Given the description of an element on the screen output the (x, y) to click on. 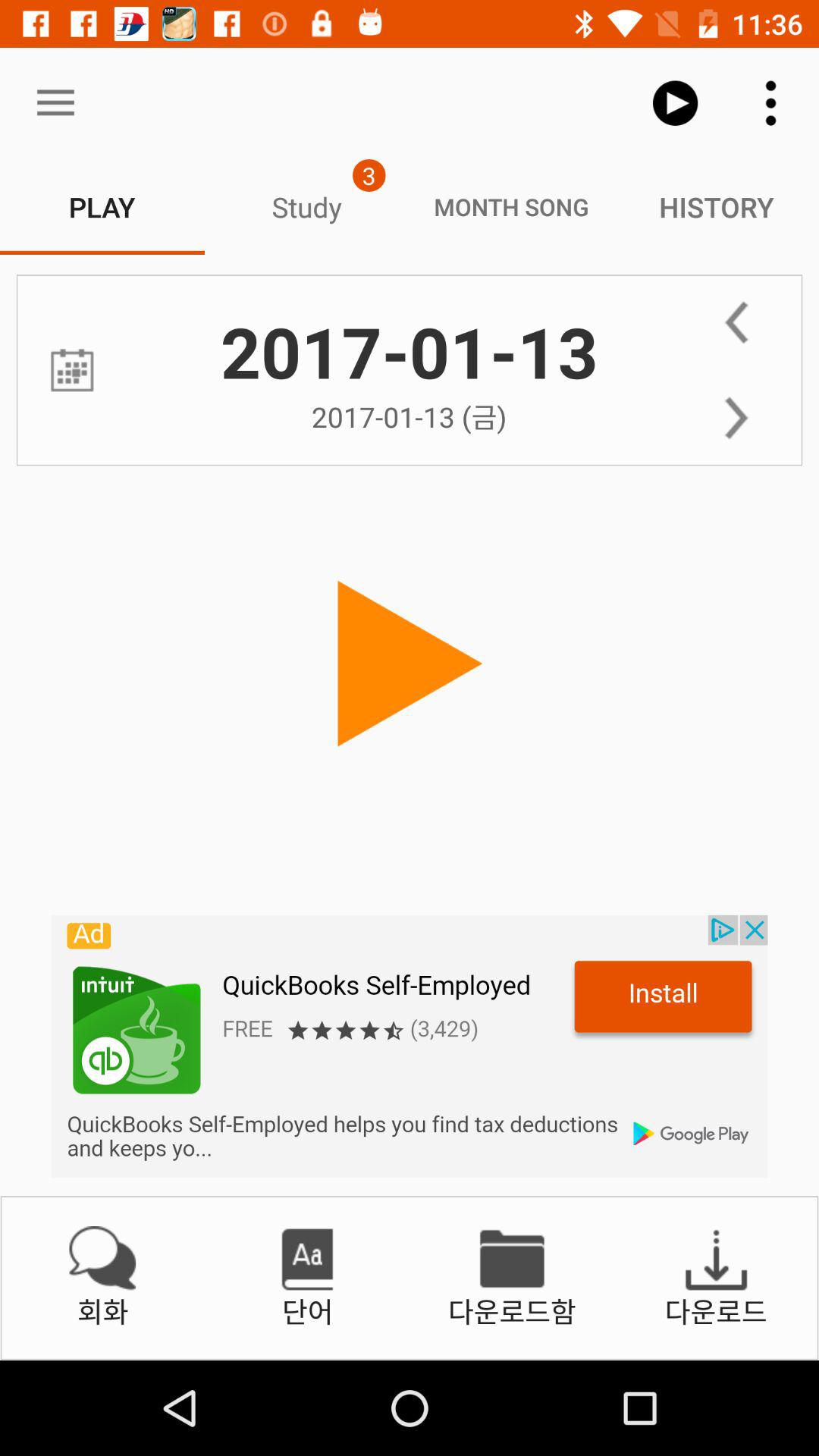
go to play (409, 663)
